Given the description of an element on the screen output the (x, y) to click on. 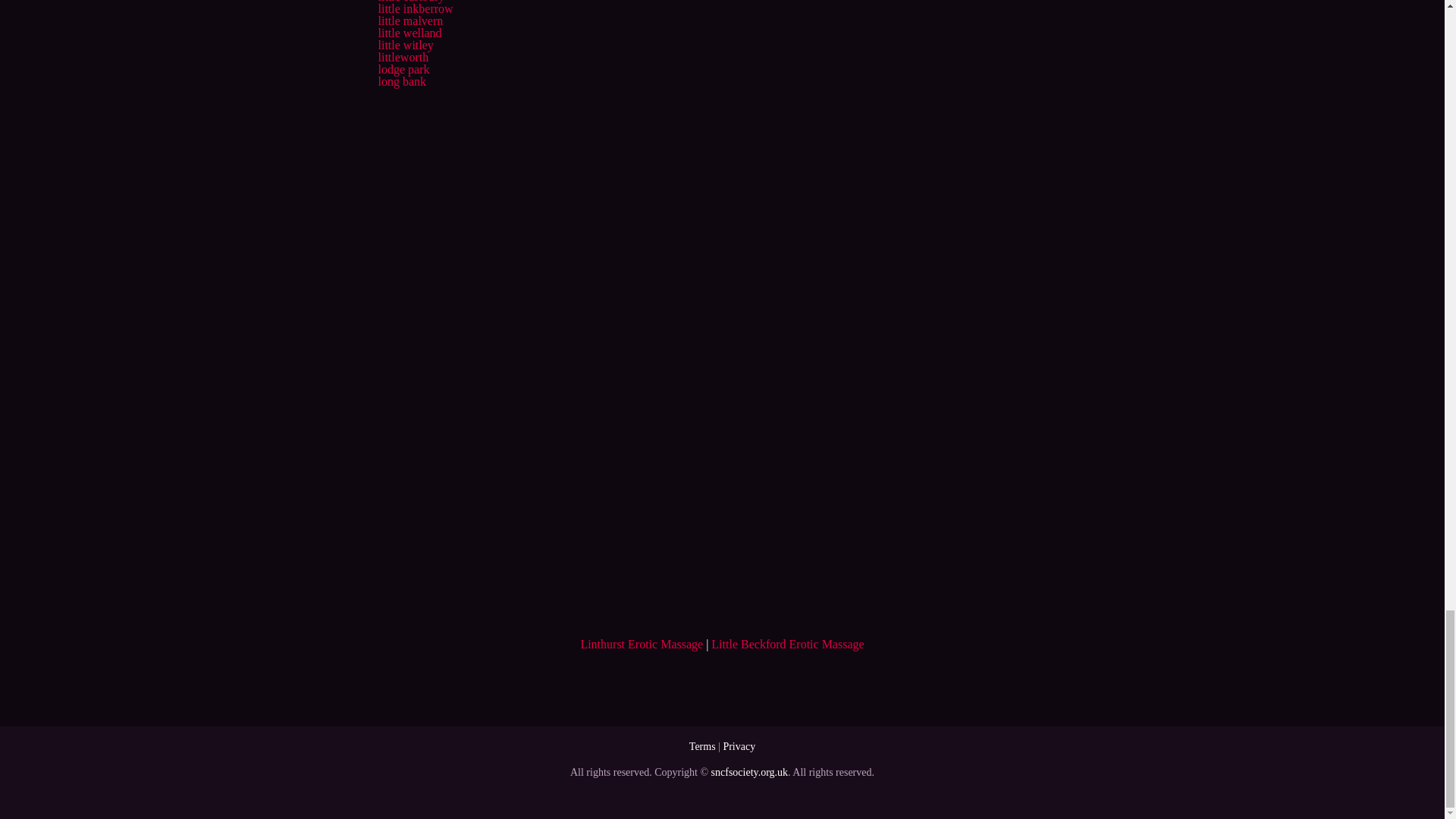
Privacy (738, 746)
littleworth (402, 56)
Linthurst Erotic Massage (641, 644)
little welland (409, 32)
Little Beckford Erotic Massage (787, 644)
little malvern (409, 20)
lodge park (403, 69)
long bank (401, 81)
sncfsociety.org.uk (749, 772)
little witley (404, 44)
